Given the description of an element on the screen output the (x, y) to click on. 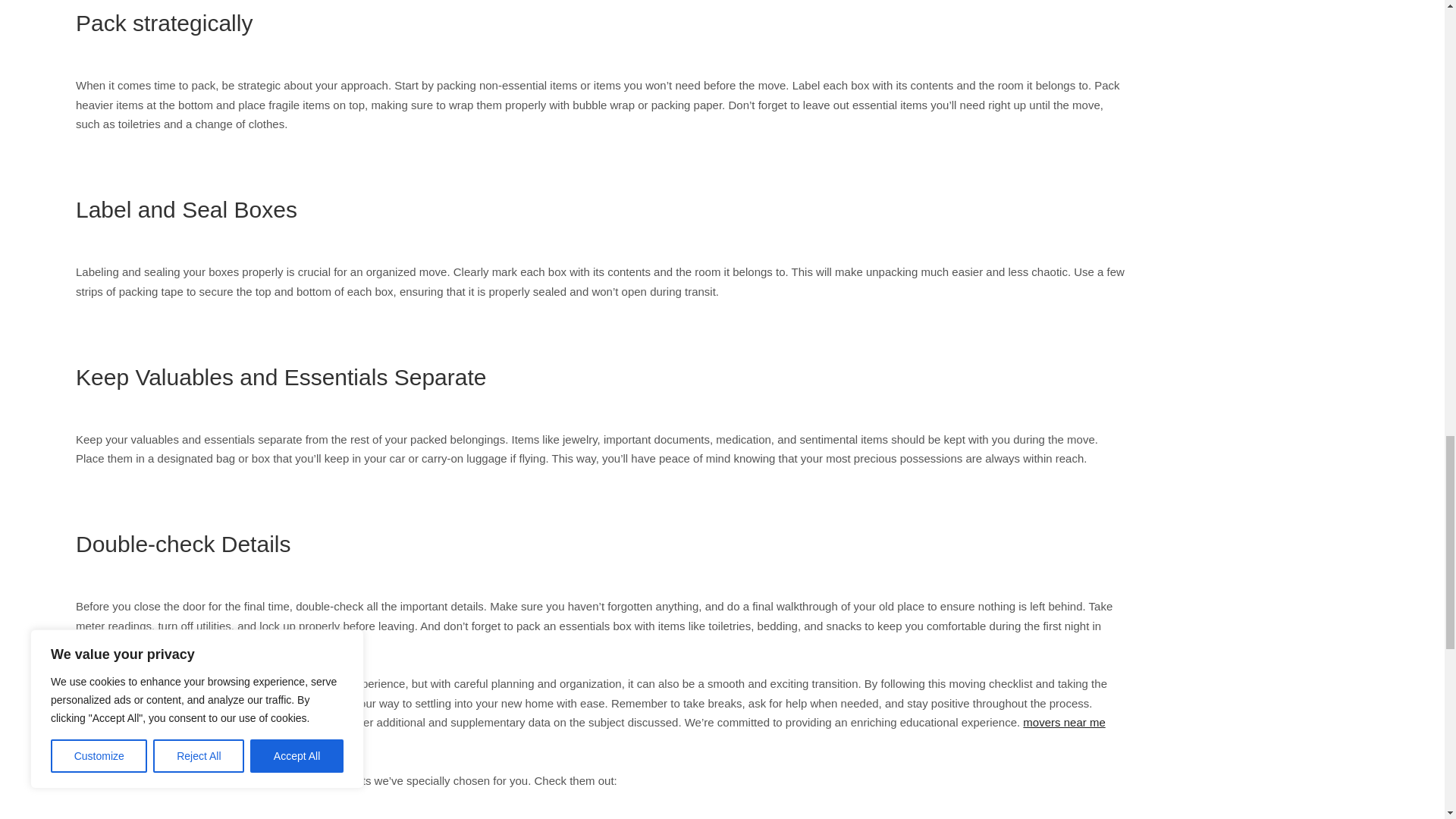
suggested external (248, 721)
